Given the description of an element on the screen output the (x, y) to click on. 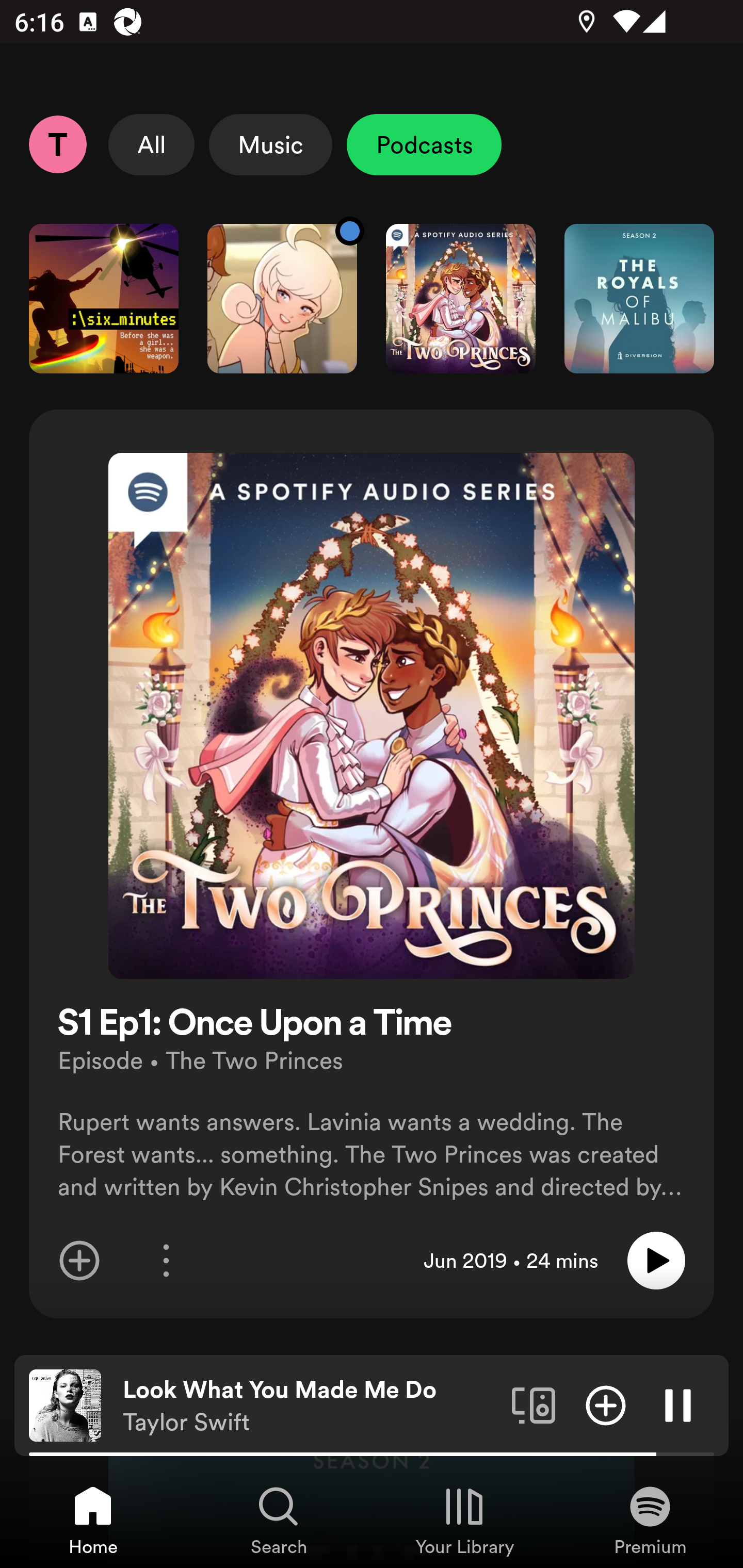
Profile (57, 144)
All Select All (151, 144)
Music Select Music (270, 144)
Podcasts Unselect Podcasts (423, 144)
Six Minutes (103, 298)
MSA  New content (281, 298)
The Two Princes (460, 298)
The Royals of Malibu (639, 298)
Add item (79, 1260)
Play (655, 1260)
Look What You Made Me Do Taylor Swift (309, 1405)
The cover art of the currently playing track (64, 1404)
Connect to a device. Opens the devices menu (533, 1404)
Add item (605, 1404)
Pause (677, 1404)
Home, Tab 1 of 4 Home Home (92, 1519)
Search, Tab 2 of 4 Search Search (278, 1519)
Your Library, Tab 3 of 4 Your Library Your Library (464, 1519)
Premium, Tab 4 of 4 Premium Premium (650, 1519)
